Given the description of an element on the screen output the (x, y) to click on. 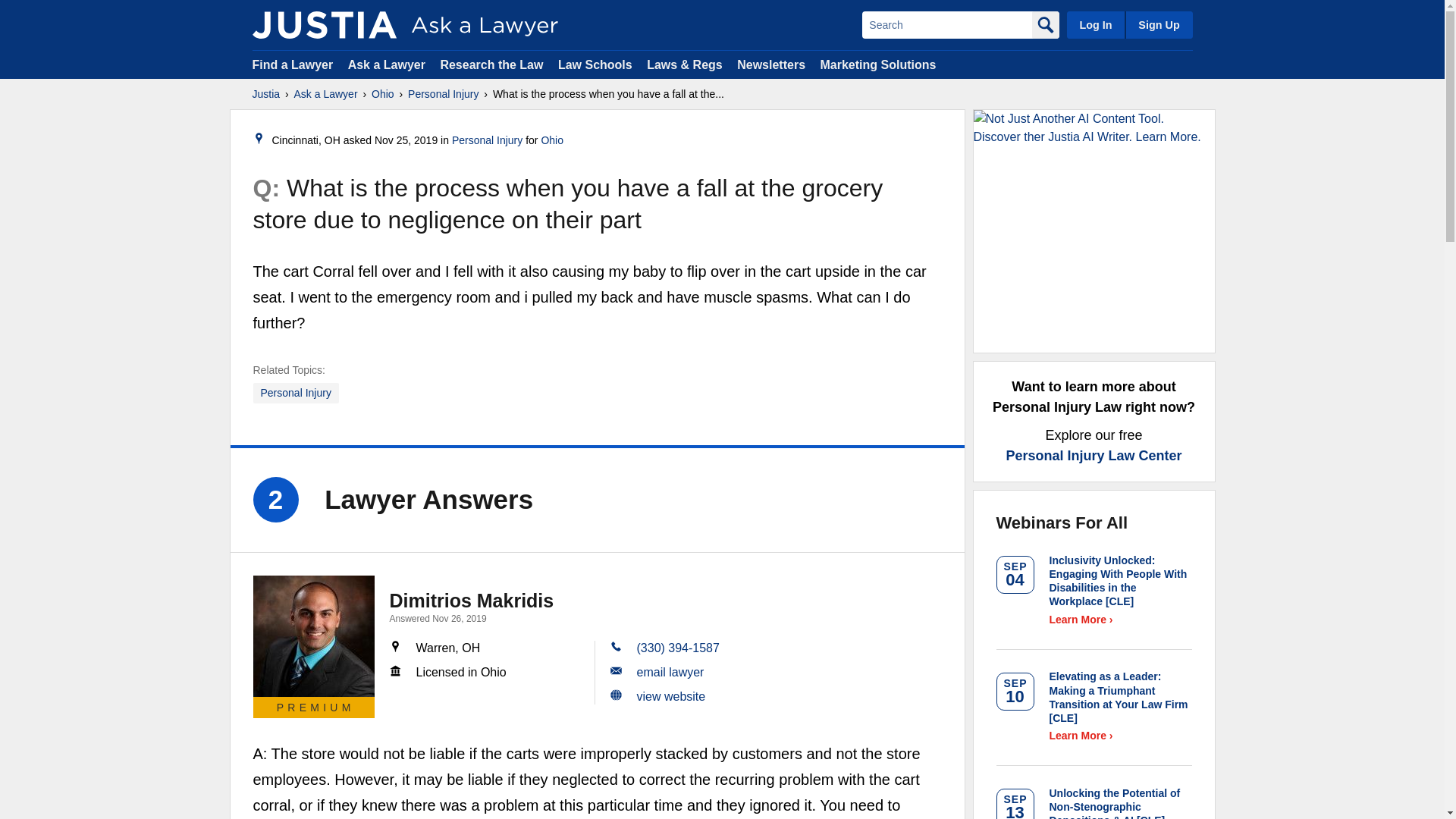
Dimitrios Makridis (472, 599)
Personal Injury (486, 140)
Ohio (551, 140)
Ask a Lawyer (326, 93)
Justia (265, 93)
Personal Injury (296, 393)
Find a Lawyer (292, 64)
Newsletters (770, 64)
Dimitrios Makridis (313, 635)
Research the Law (491, 64)
